Given the description of an element on the screen output the (x, y) to click on. 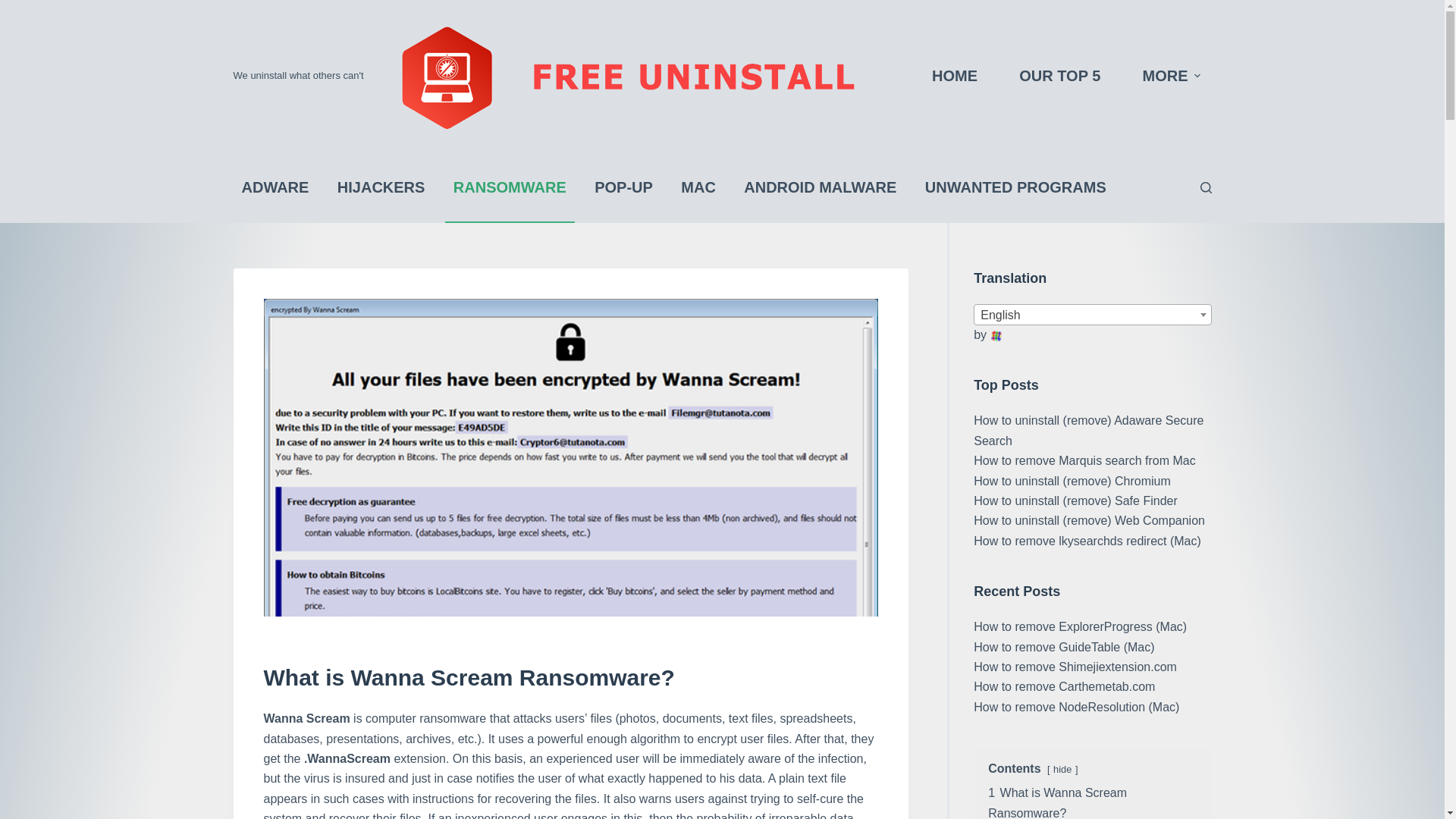
English (1091, 314)
HIJACKERS (381, 186)
ADWARE (274, 186)
UNWANTED PROGRAMS (1016, 186)
POP-UP (623, 186)
Skip to content (15, 7)
RANSOMWARE (510, 186)
ANDROID MALWARE (819, 186)
Transposh - translation plugin for wordpress (996, 336)
